Given the description of an element on the screen output the (x, y) to click on. 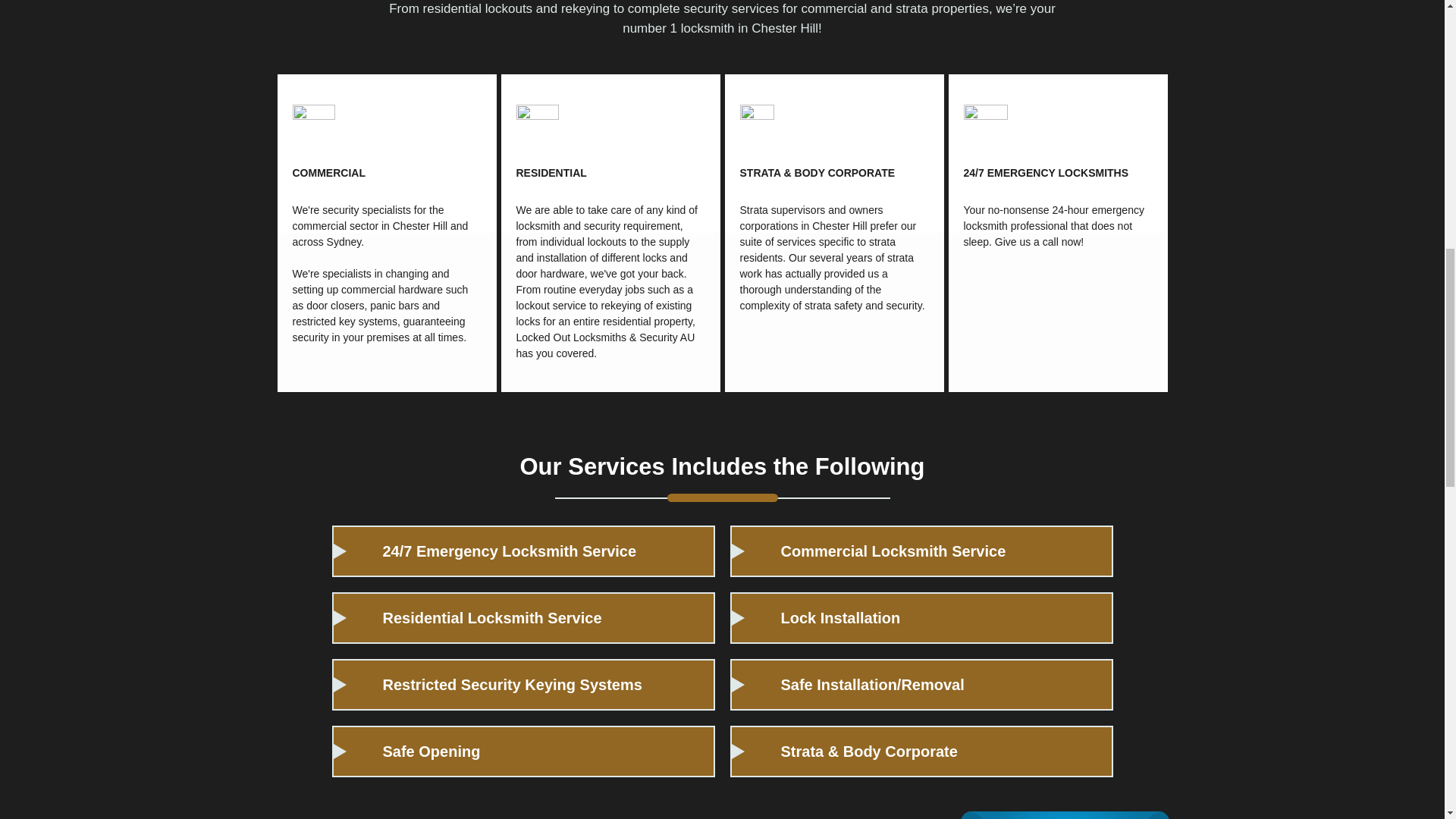
Residential Locksmith Service (522, 617)
Restricted Security Keying Systems (522, 684)
Commercial Locksmith Service (920, 551)
Lock Installation (920, 617)
Safe Opening (522, 751)
